Given the description of an element on the screen output the (x, y) to click on. 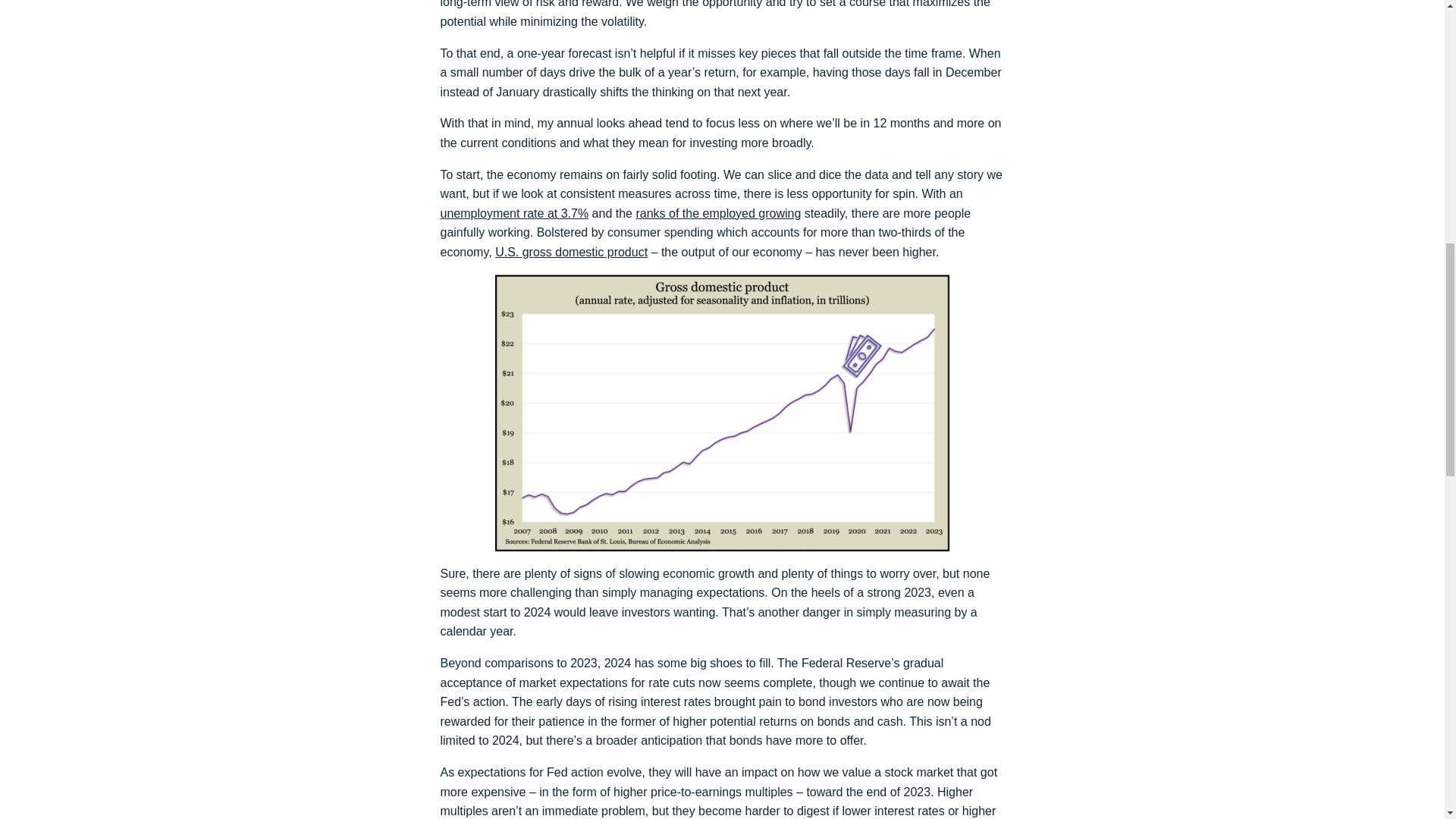
U.S. gross domestic product (571, 251)
ranks of the employed growing (717, 213)
